Given the description of an element on the screen output the (x, y) to click on. 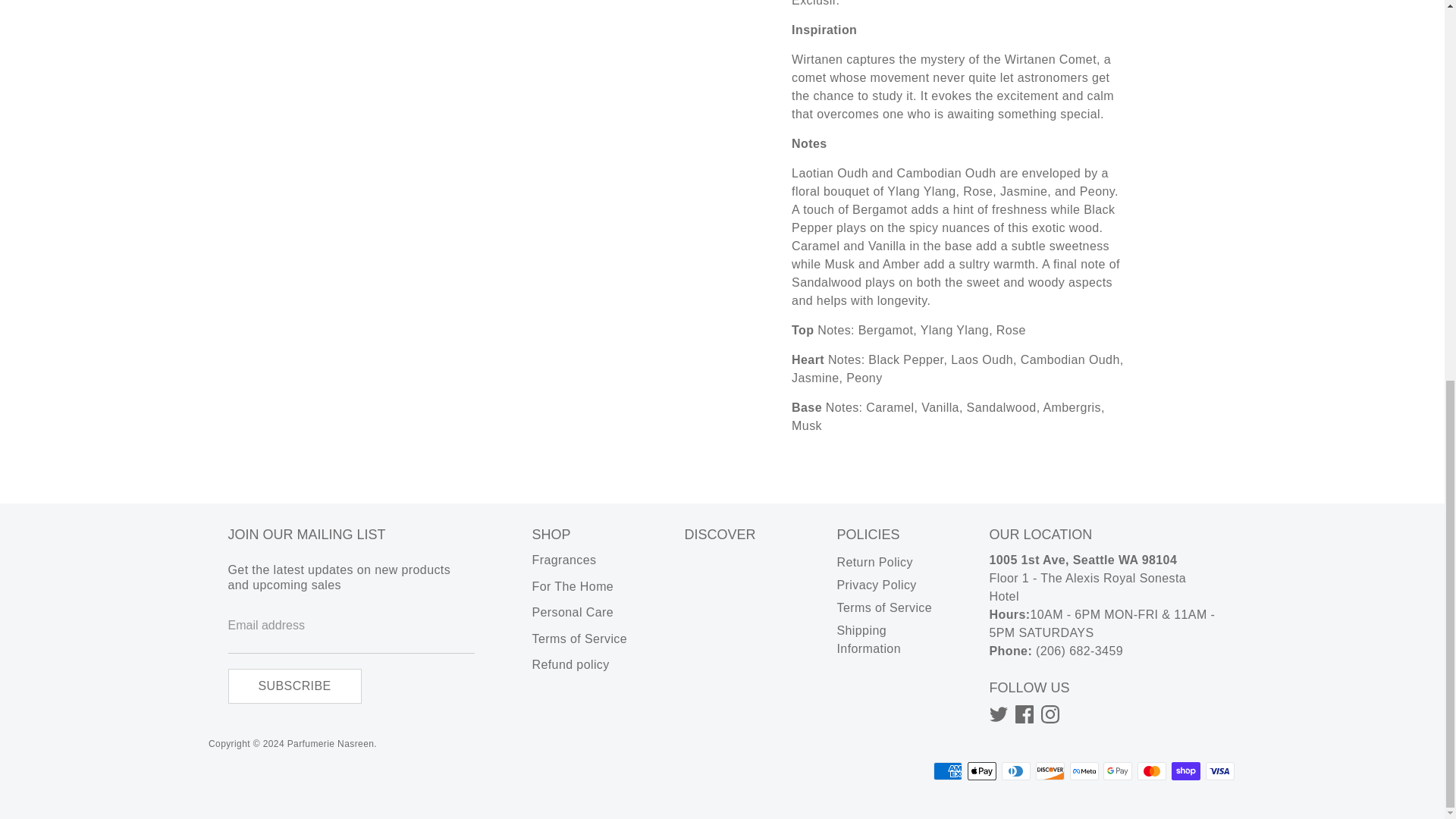
American Express (947, 771)
Google Pay (1117, 771)
Shop Pay (1185, 771)
Diners Club (1015, 771)
Visa (1219, 771)
Discover (1049, 771)
Meta Pay (1084, 771)
Apple Pay (981, 771)
Mastercard (1151, 771)
